Given the description of an element on the screen output the (x, y) to click on. 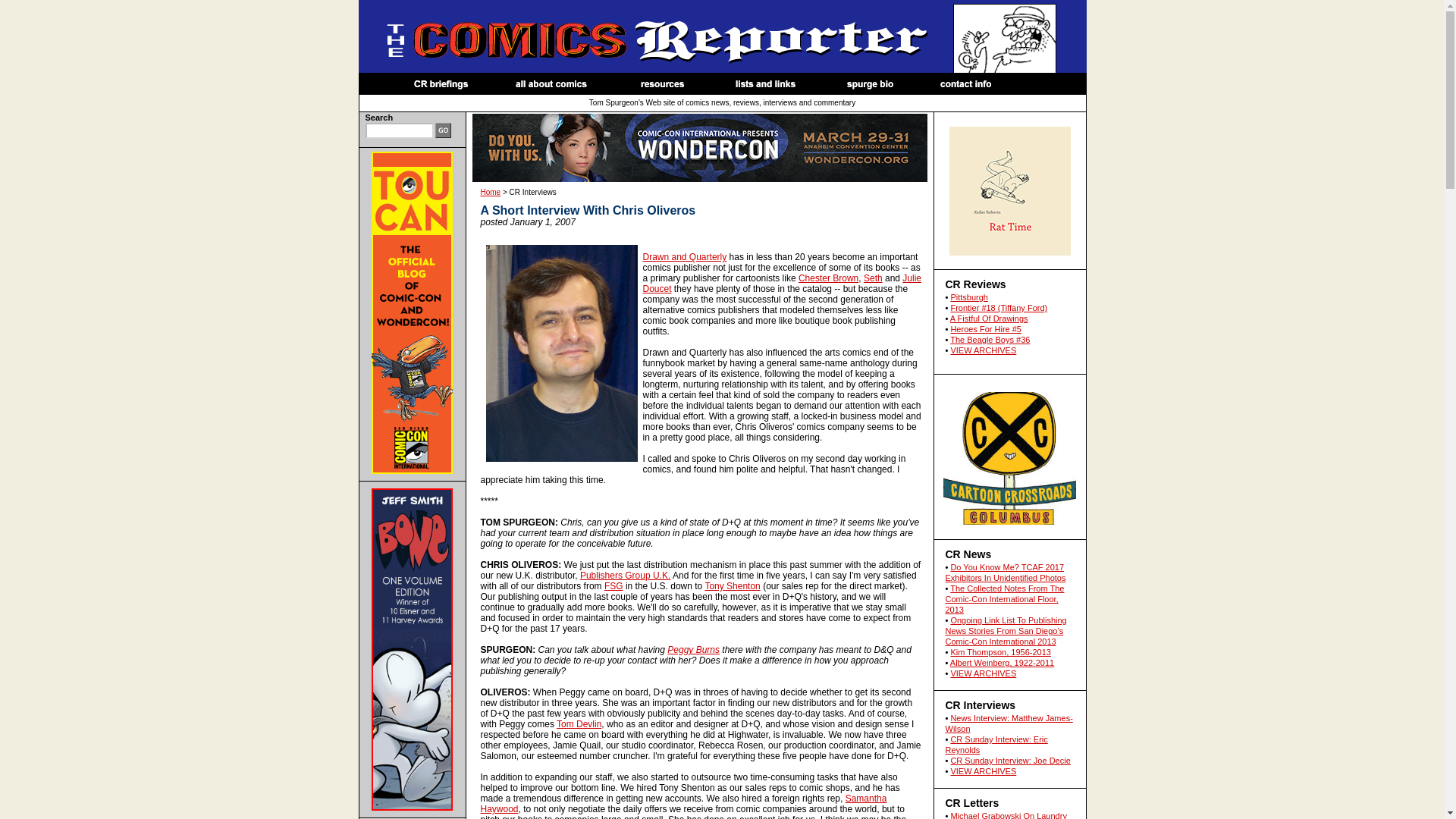
FSG (613, 585)
Tony Shenton (732, 585)
Chester Brown (828, 277)
Home (490, 192)
Samantha Haywood (683, 803)
Julie Doucet (782, 283)
Tom Devlin (578, 724)
Seth (872, 277)
Tom Devlin (578, 724)
Julie Doucet (782, 283)
Samantha Haywood (683, 803)
Chester Brown (828, 277)
Publishers Group U.K. (624, 575)
Peggy Burns (692, 649)
Tony Shenton (732, 585)
